Given the description of an element on the screen output the (x, y) to click on. 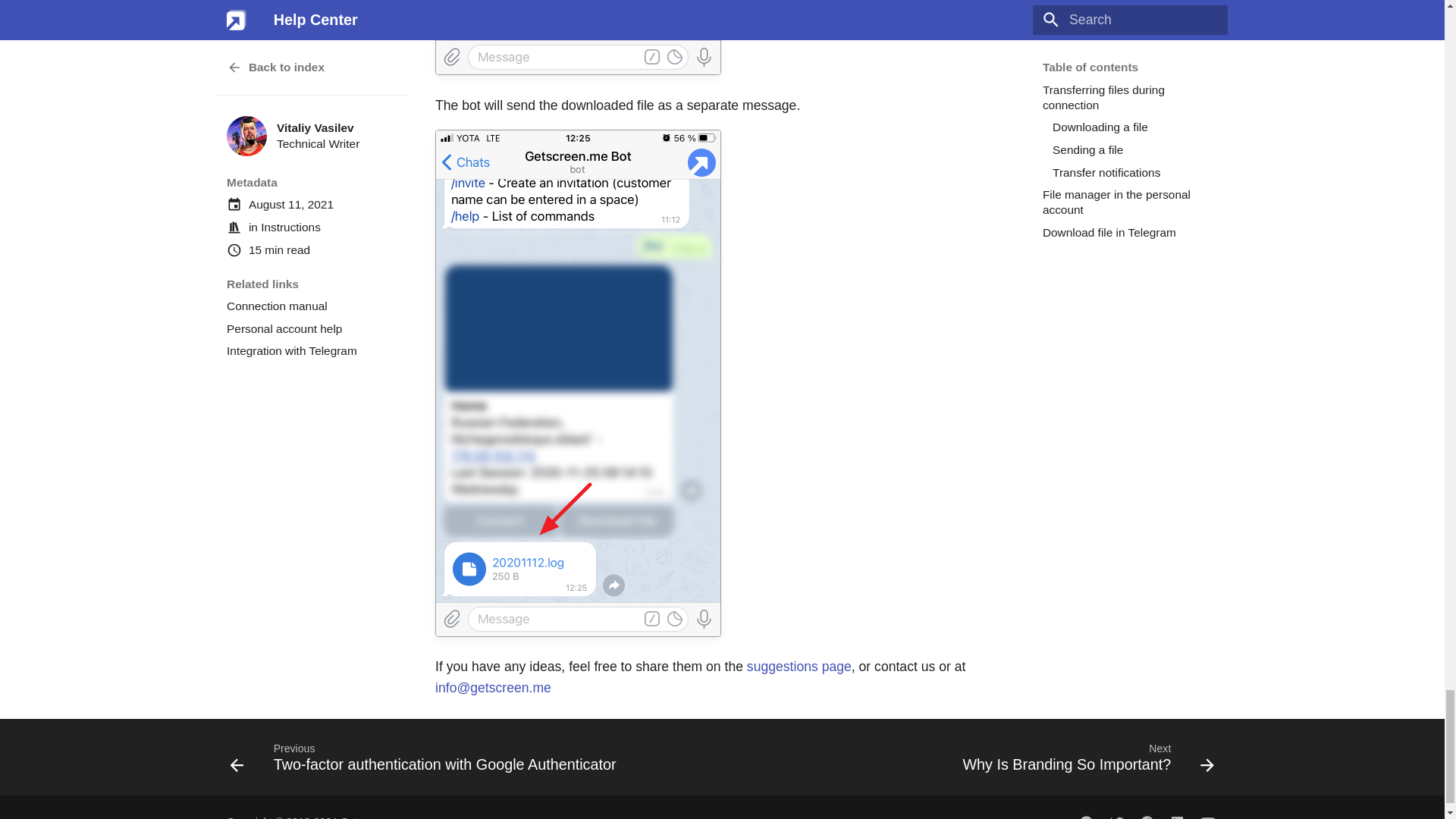
t.me (1086, 814)
www.facebook.com (1147, 814)
www.linkedin.com (1177, 814)
twitter.com (1116, 814)
www.youtube.com (1207, 814)
